Given the description of an element on the screen output the (x, y) to click on. 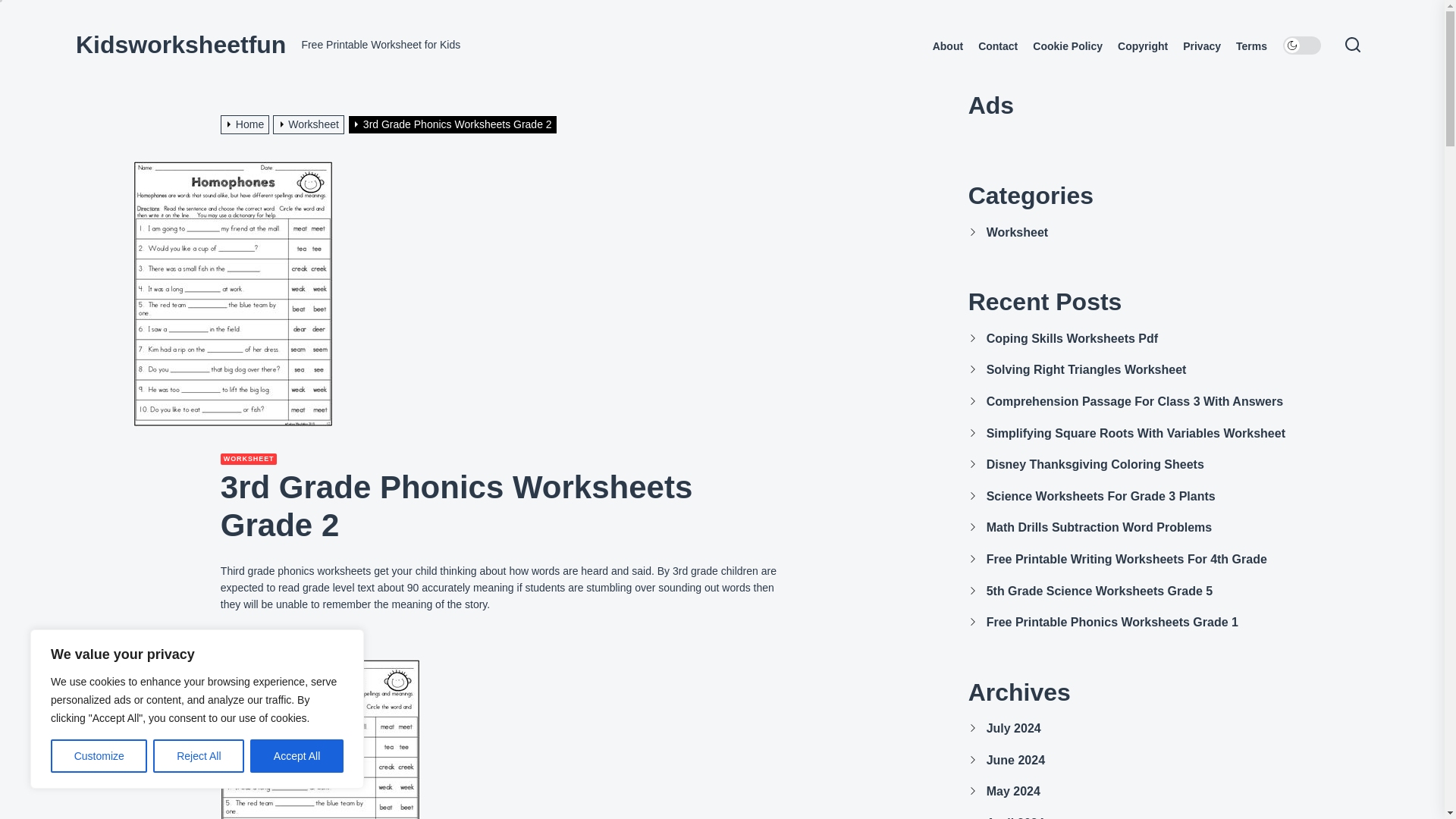
Cookie Policy (1067, 46)
Customize (98, 756)
Worksheet (310, 123)
Privacy (1201, 46)
Kidsworksheetfun (180, 44)
WORKSHEET (249, 459)
Contact (997, 46)
Terms (1251, 46)
3rd Grade Phonics Worksheets Grade 2 (453, 123)
Reject All (198, 756)
Copyright (1142, 46)
Home (247, 123)
About (947, 46)
Accept All (296, 756)
